Given the description of an element on the screen output the (x, y) to click on. 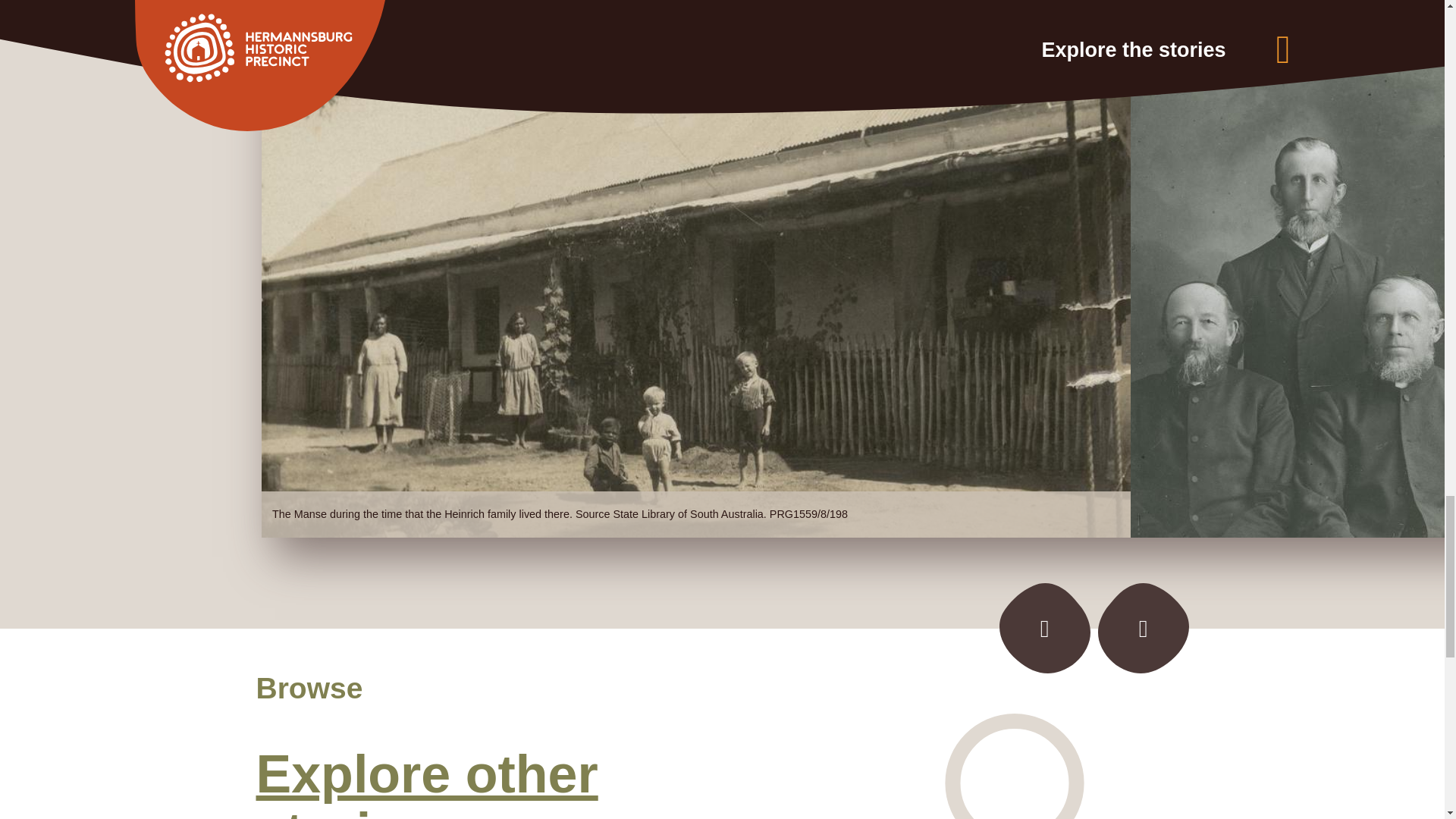
Explore other stories (427, 781)
